Given the description of an element on the screen output the (x, y) to click on. 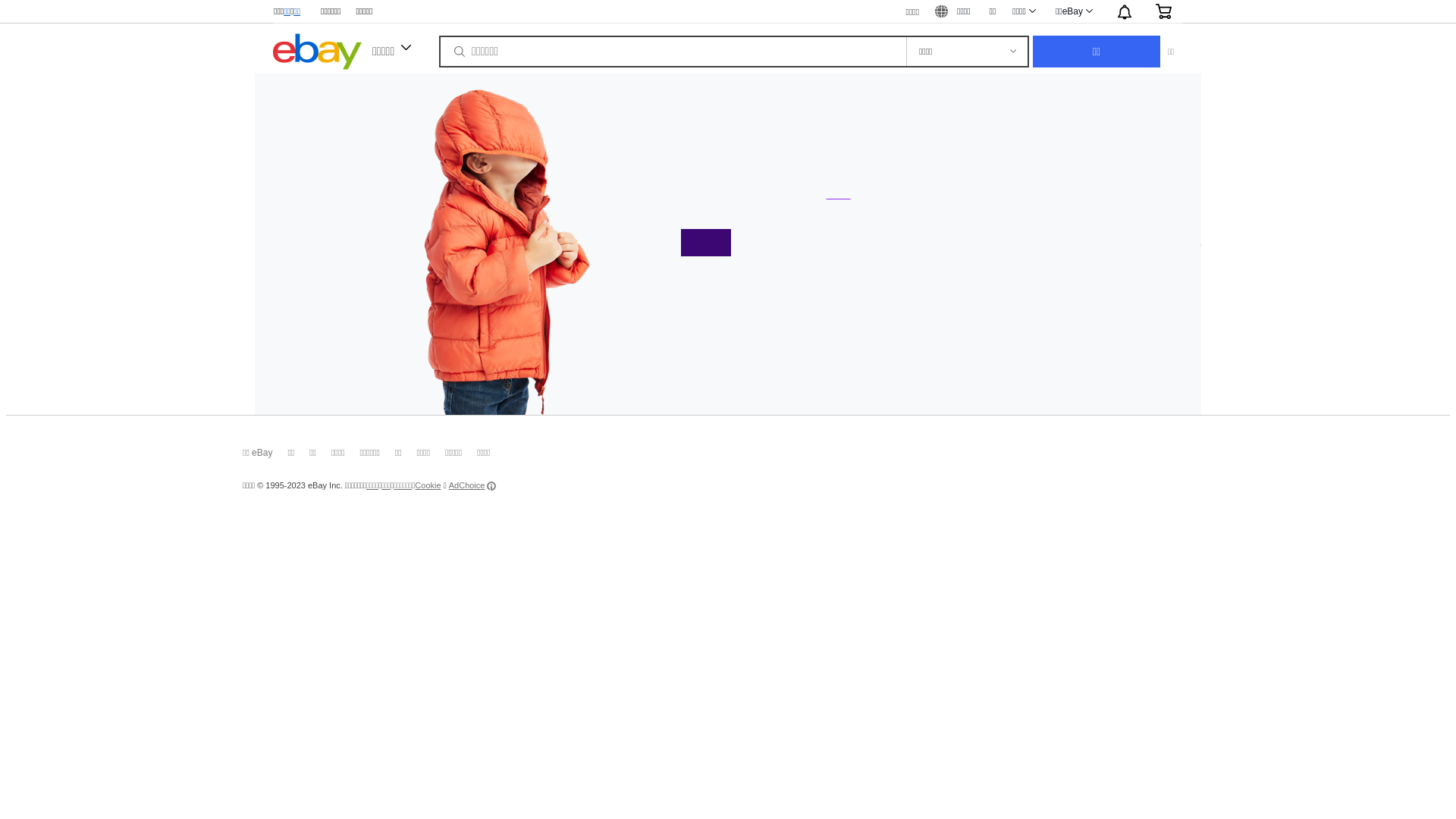
AdChoice Element type: text (472, 485)
Cookie Element type: text (427, 485)
